Given the description of an element on the screen output the (x, y) to click on. 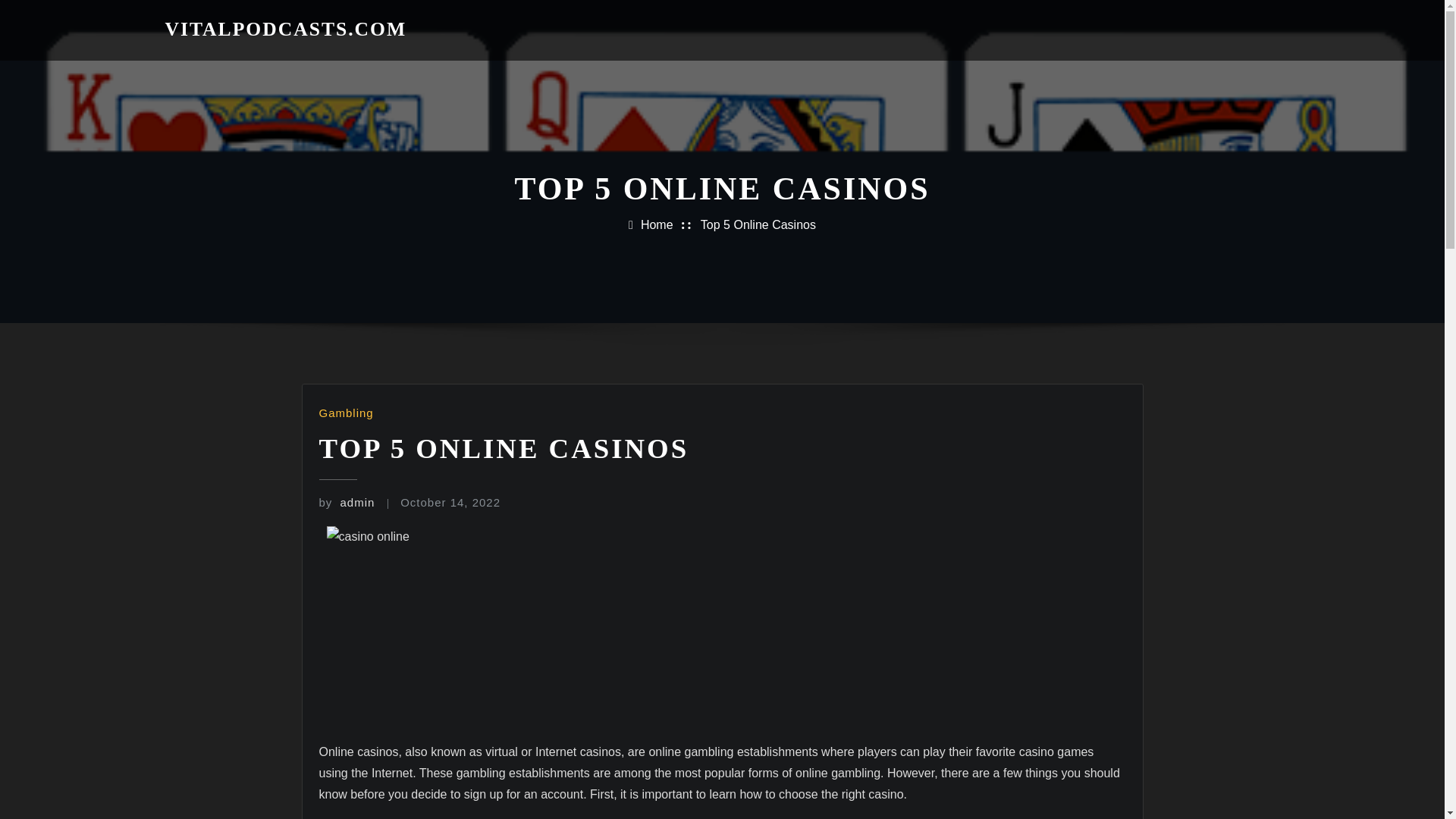
October 14, 2022 (450, 502)
by admin (346, 502)
Top 5 Online Casinos (757, 224)
Home (656, 224)
VITALPODCASTS.COM (286, 29)
Gambling (345, 412)
